Given the description of an element on the screen output the (x, y) to click on. 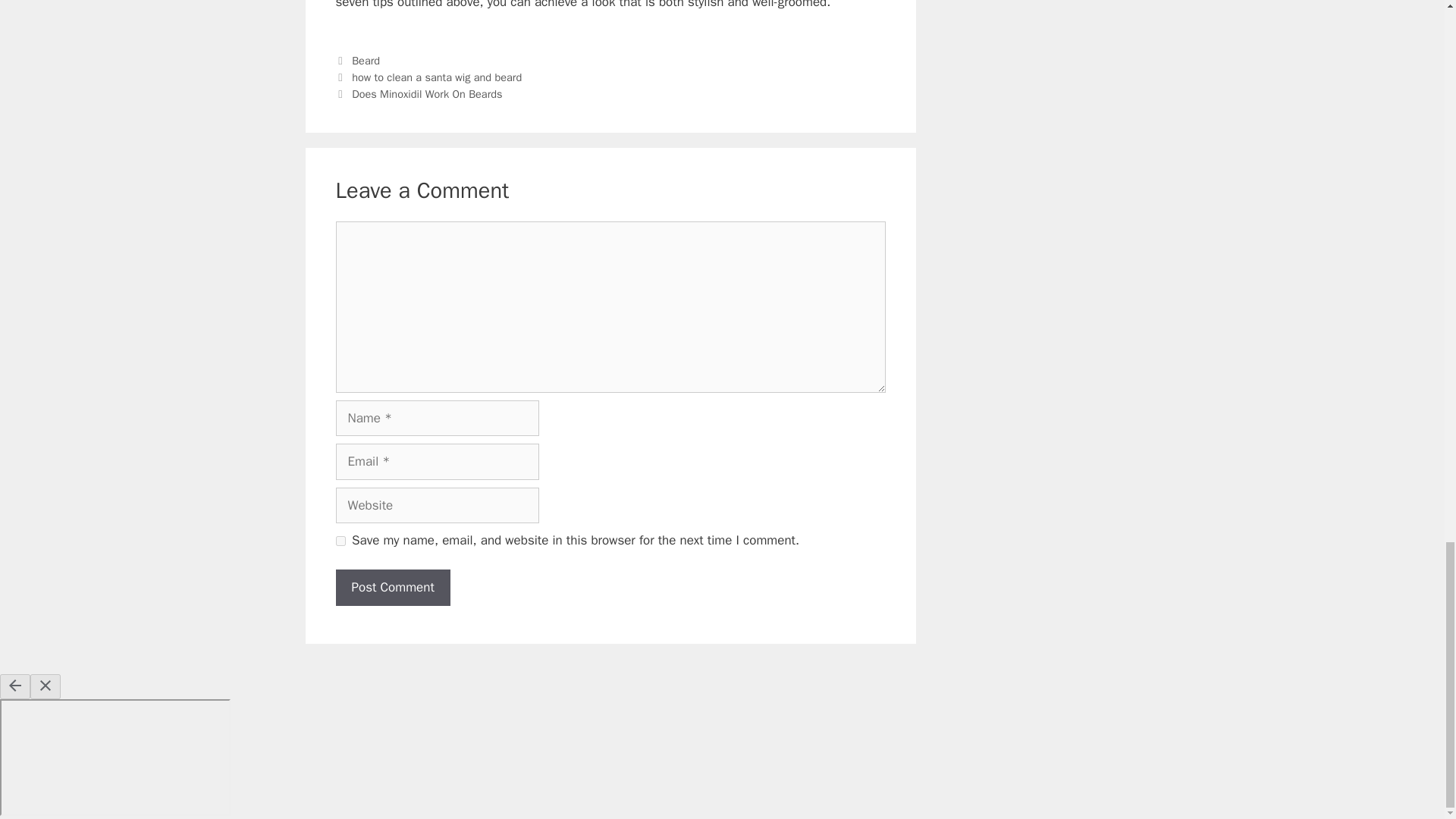
how to clean a santa wig and beard (436, 77)
Post Comment (391, 587)
Beard (366, 60)
yes (339, 541)
Post Comment (391, 587)
Does Minoxidil Work On Beards (427, 93)
